Given the description of an element on the screen output the (x, y) to click on. 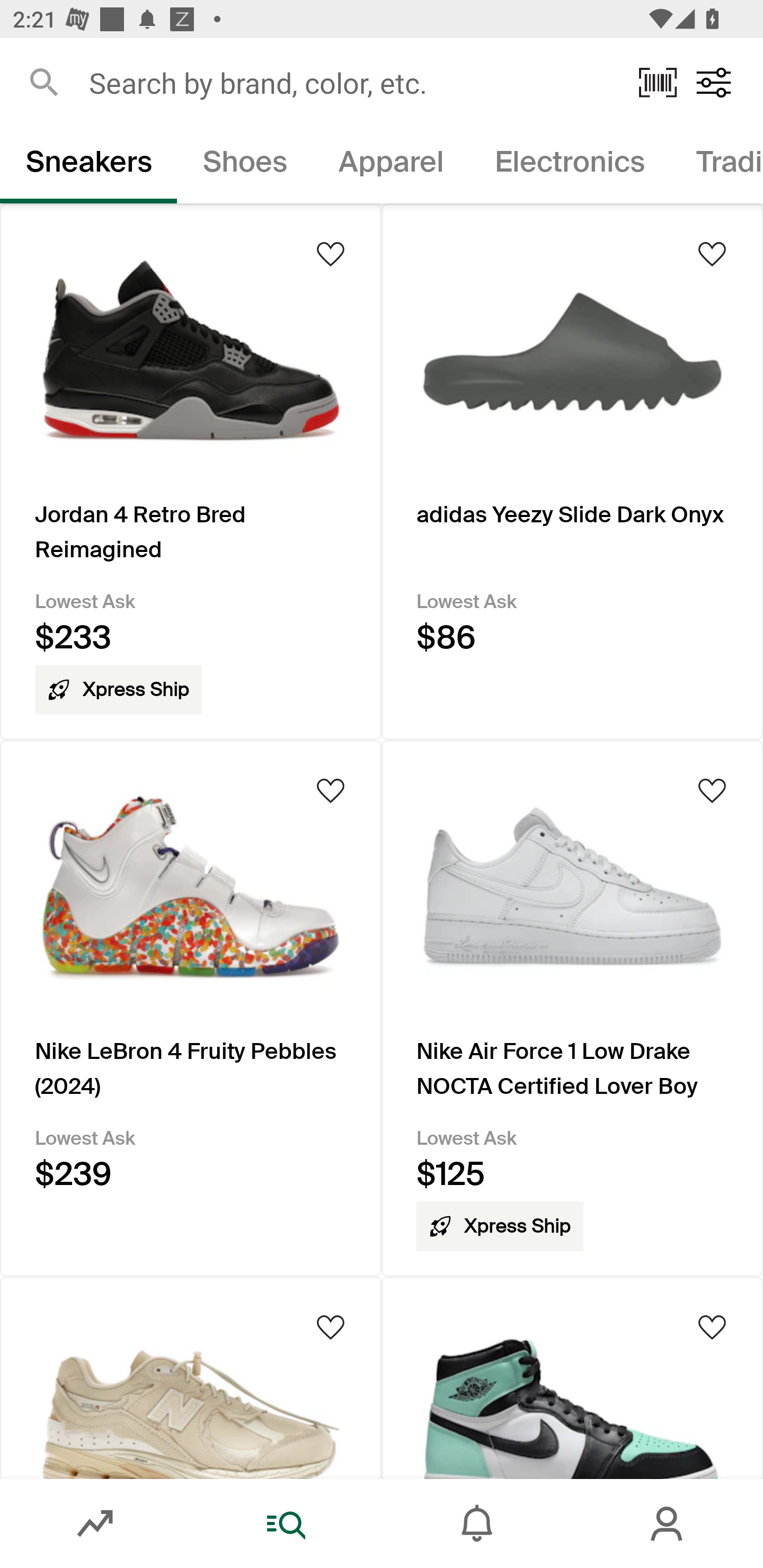
Search by brand, color, etc. (351, 82)
Shoes (244, 165)
Apparel (390, 165)
Electronics (569, 165)
Product Image (190, 1377)
Product Image (572, 1377)
Market (95, 1523)
Inbox (476, 1523)
Account (667, 1523)
